Given the description of an element on the screen output the (x, y) to click on. 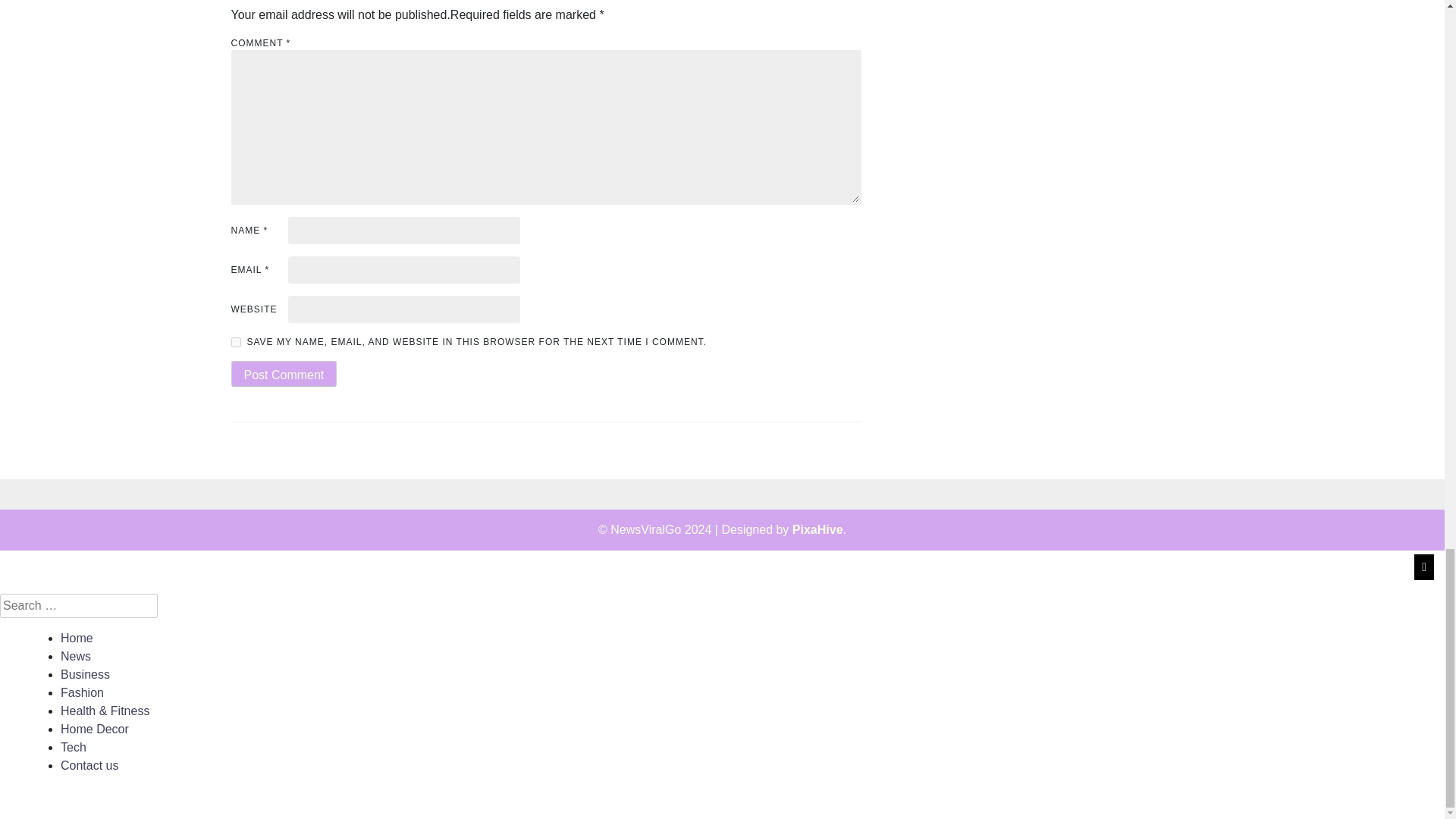
Home (77, 637)
Contact us (89, 765)
PixaHive (817, 529)
Business (85, 674)
News (75, 656)
Post Comment (283, 373)
Fashion (82, 692)
Post Comment (283, 373)
yes (235, 342)
Tech (73, 747)
